Given the description of an element on the screen output the (x, y) to click on. 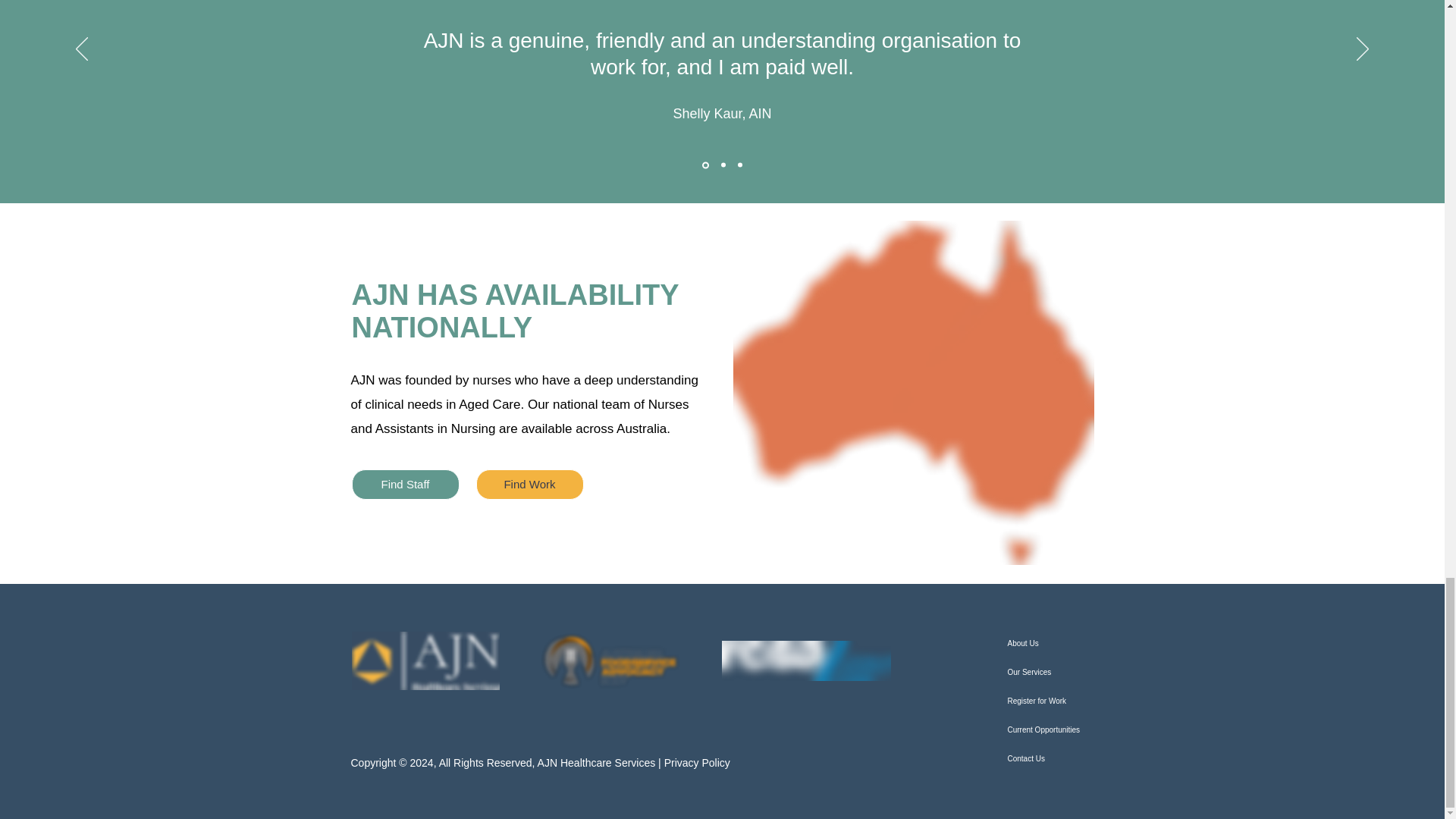
Find Work (529, 484)
About Us (1048, 643)
Contact Us (1048, 758)
Current Opportunities (1048, 729)
Our Services (1048, 672)
Register for Work (1048, 701)
Privacy Policy (696, 762)
Find Staff (406, 484)
